Given the description of an element on the screen output the (x, y) to click on. 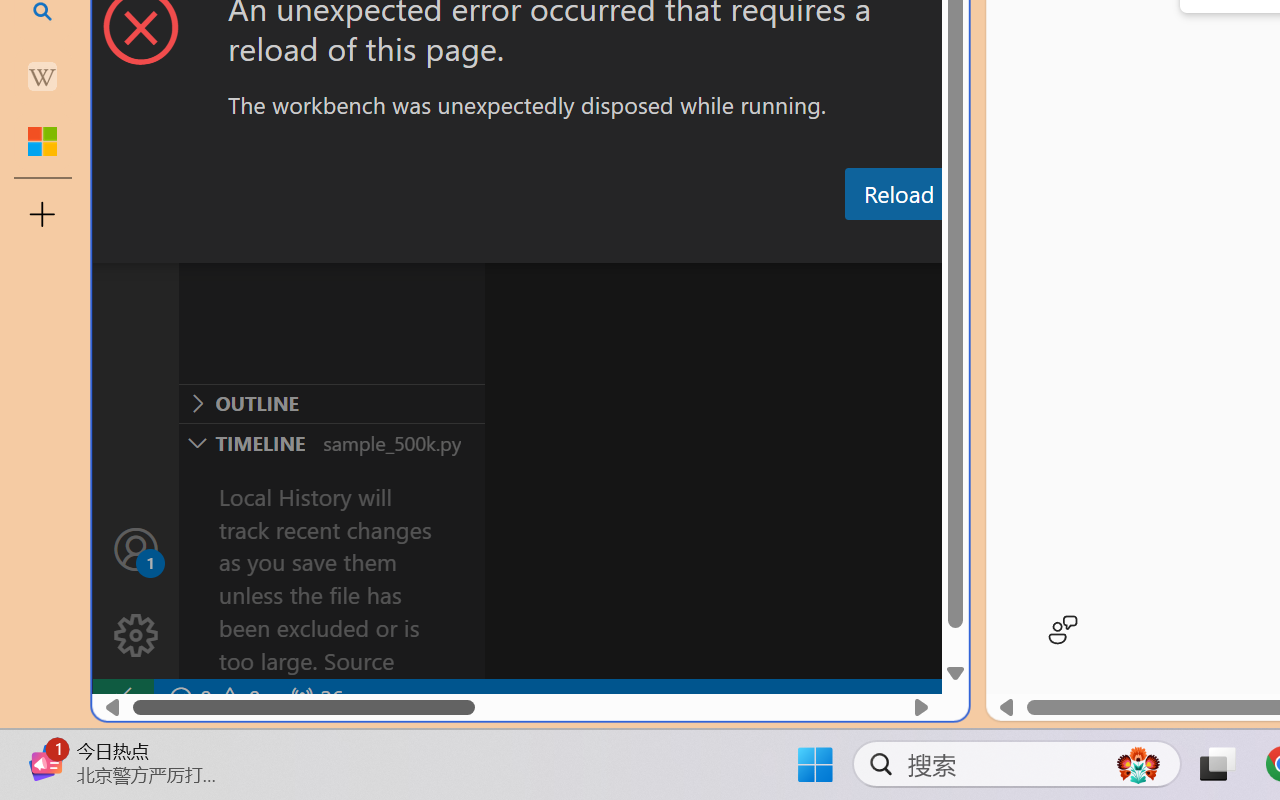
No Problems (212, 698)
Terminal (Ctrl+`) (1021, 243)
Reload (898, 193)
Accounts - Sign in requested (135, 548)
Outline Section (331, 403)
Debug Console (Ctrl+Shift+Y) (854, 243)
